Given the description of an element on the screen output the (x, y) to click on. 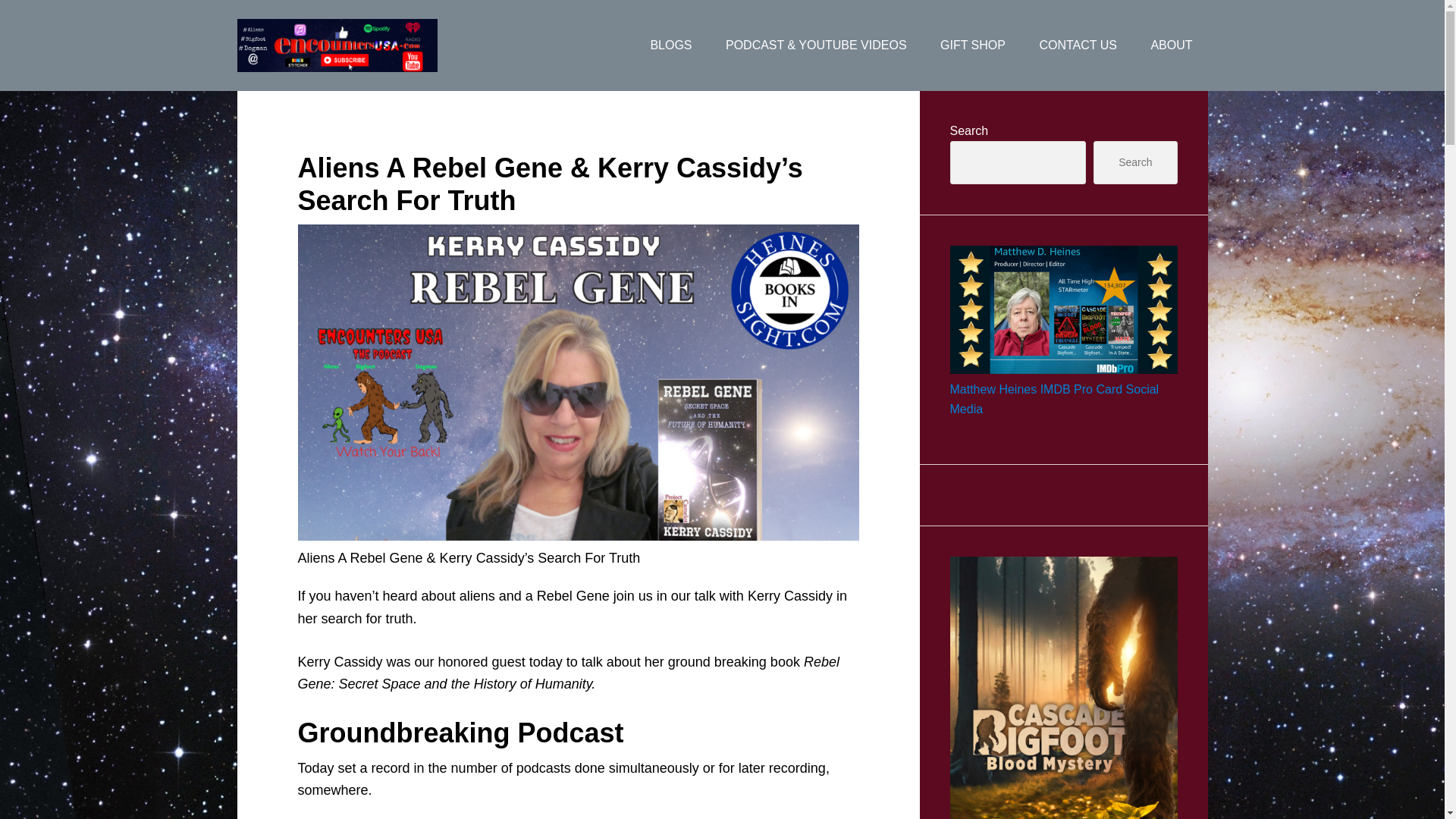
Encounters USA (357, 45)
